Given the description of an element on the screen output the (x, y) to click on. 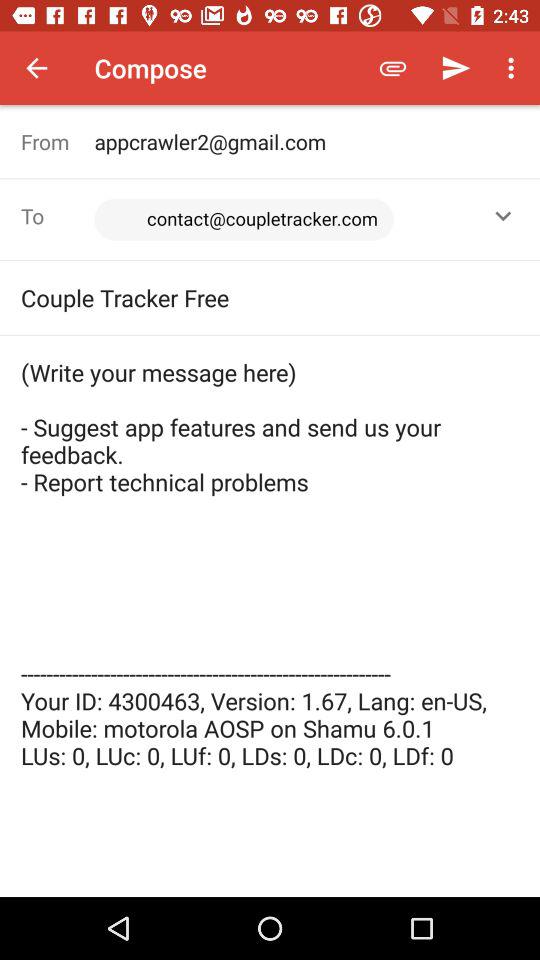
select couple tracker free item (270, 297)
